Given the description of an element on the screen output the (x, y) to click on. 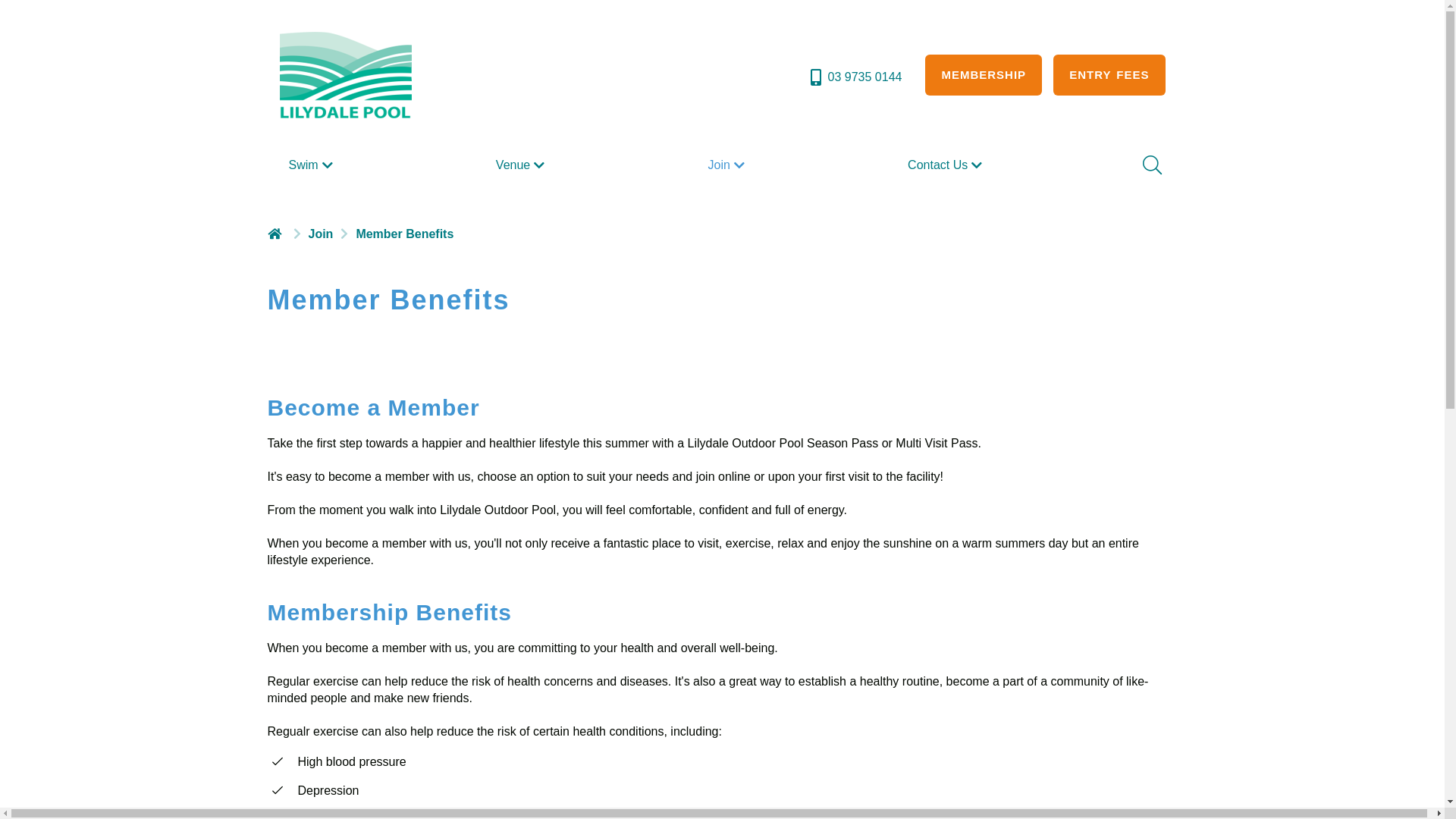
Venue Element type: text (521, 165)
03 9735 0144 Element type: text (854, 77)
ENTRY FEES Element type: text (1108, 74)
Contact Us Element type: text (946, 165)
Swim Element type: text (312, 165)
Search Element type: text (1150, 165)
Join Element type: text (728, 165)
  Element type: text (275, 233)
MEMBERSHIP Element type: text (983, 74)
